Given the description of an element on the screen output the (x, y) to click on. 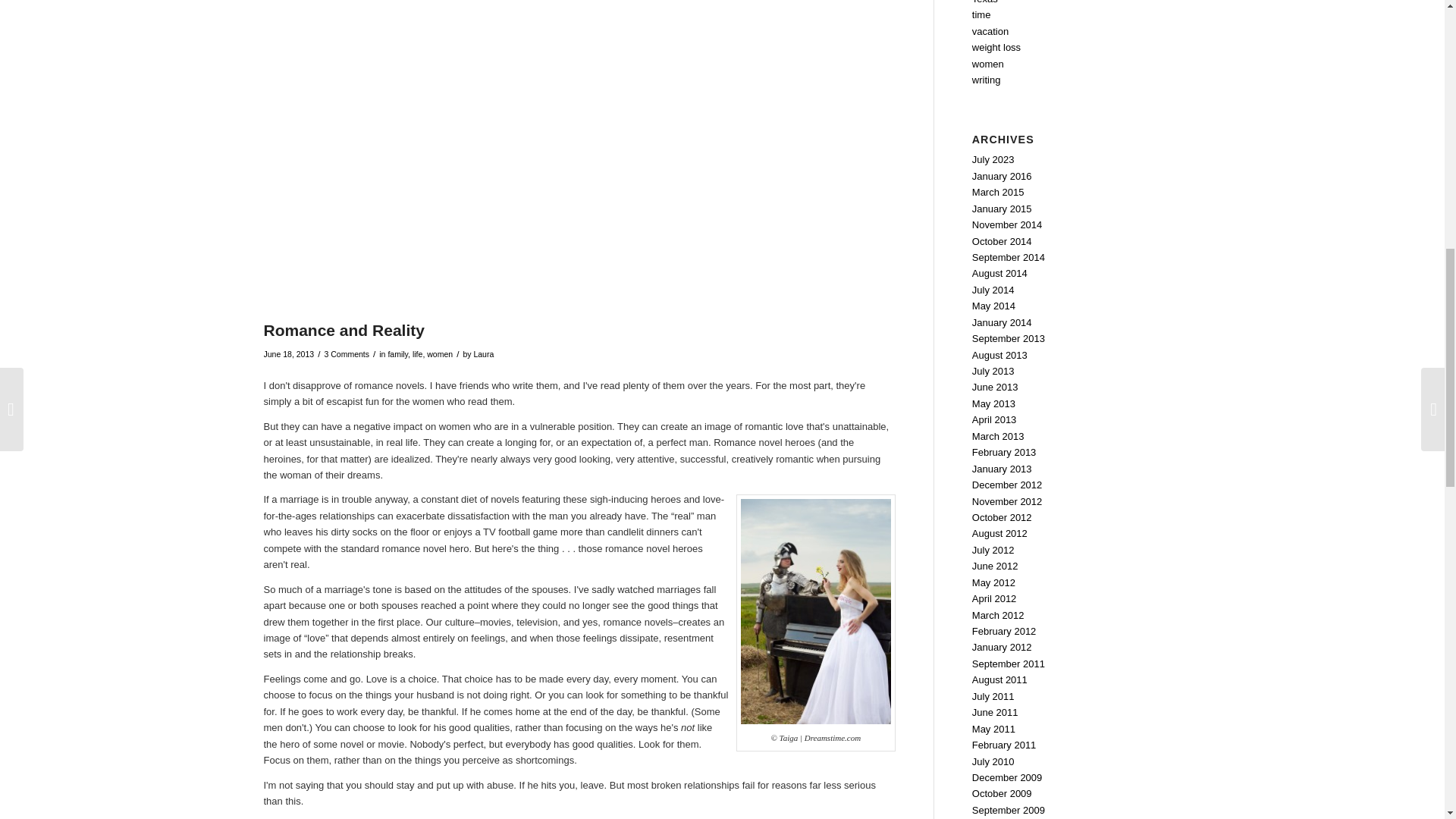
women (439, 353)
3 Comments (346, 353)
Laura (483, 353)
life (417, 353)
Posts by Laura (483, 353)
family (397, 353)
